Given the description of an element on the screen output the (x, y) to click on. 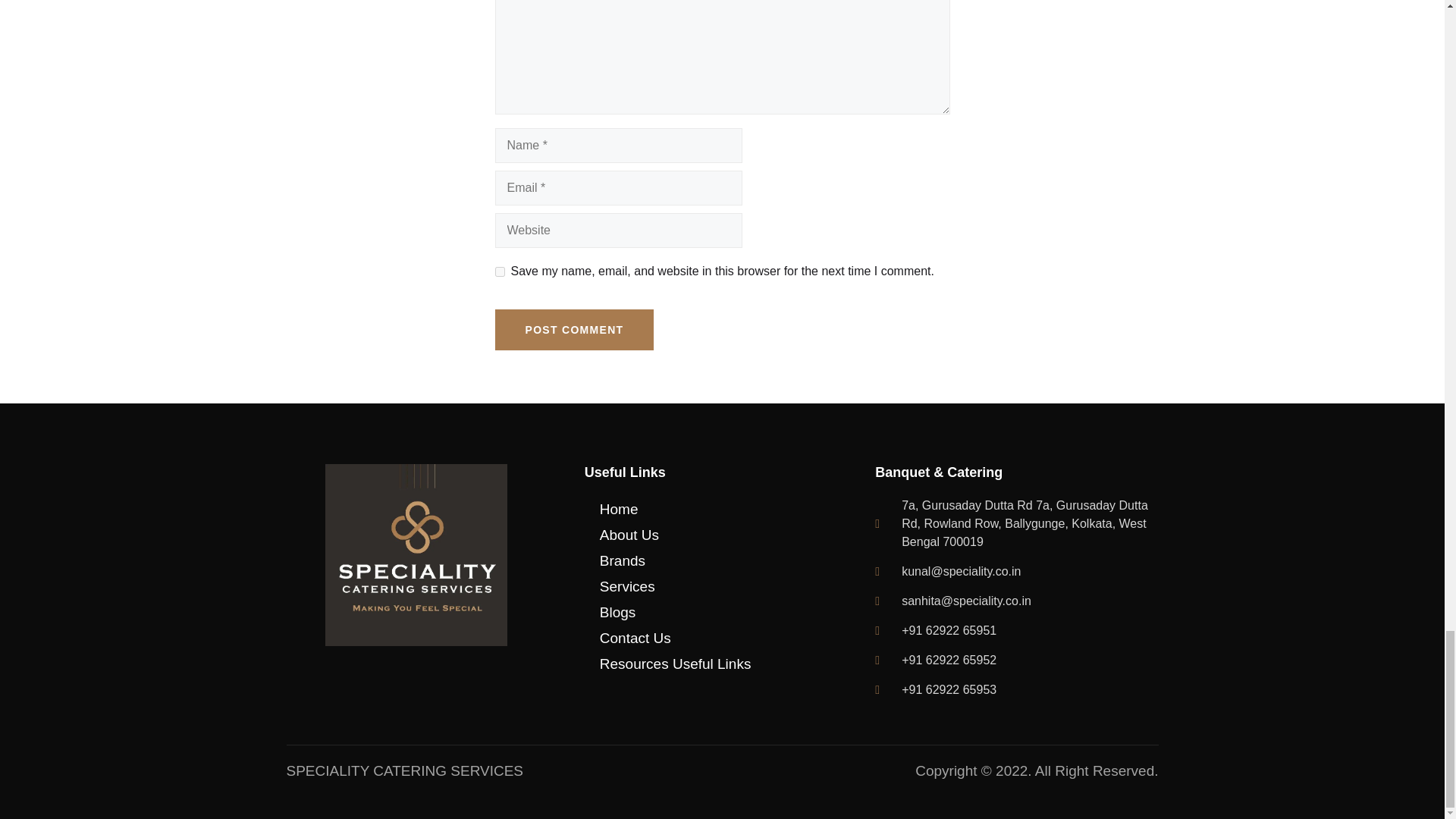
About Us (726, 534)
Brands (726, 560)
Post Comment (574, 329)
yes (499, 271)
Home (726, 509)
Post Comment (574, 329)
